Given the description of an element on the screen output the (x, y) to click on. 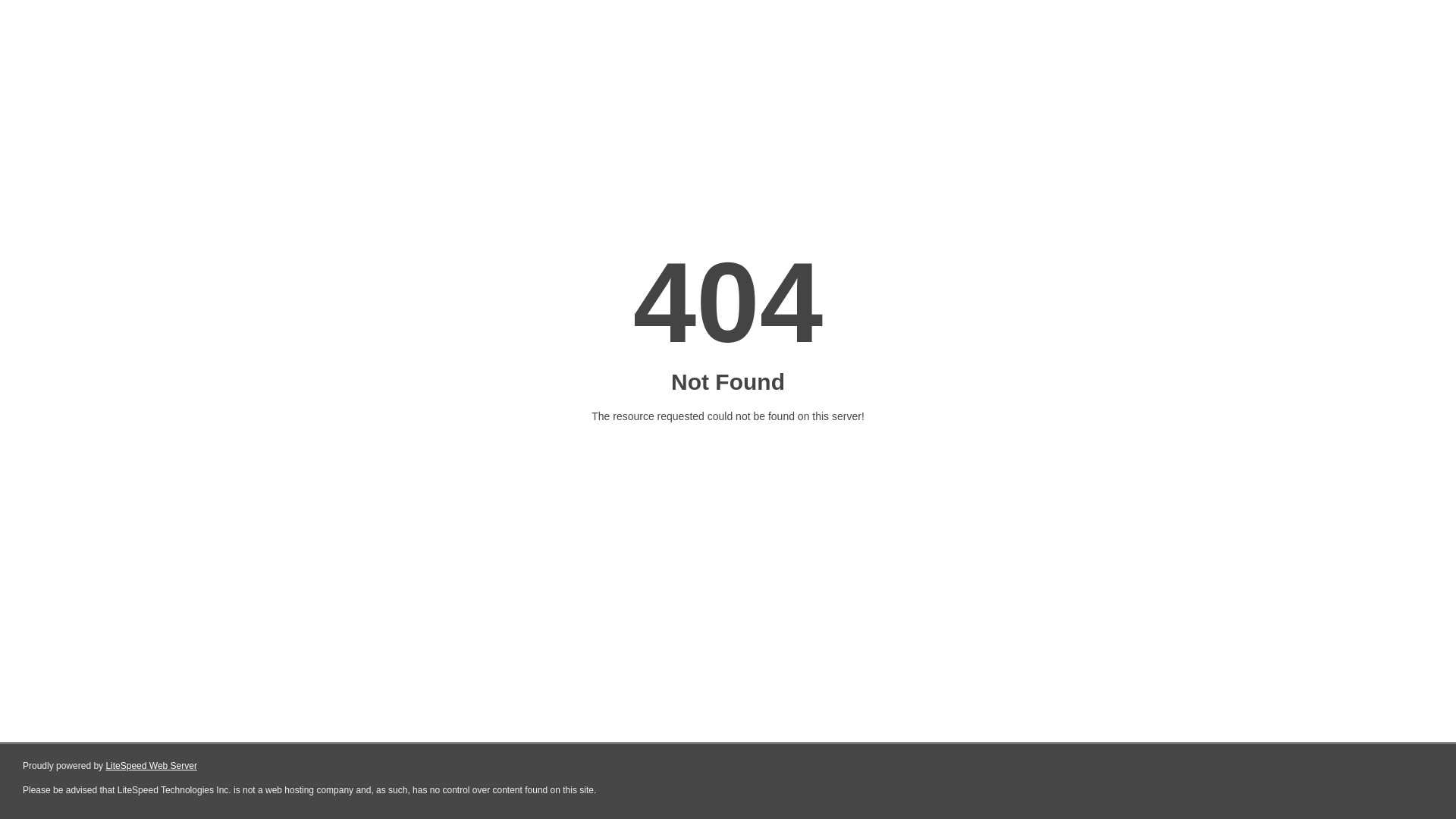
LiteSpeed Web Server Element type: text (151, 765)
